Given the description of an element on the screen output the (x, y) to click on. 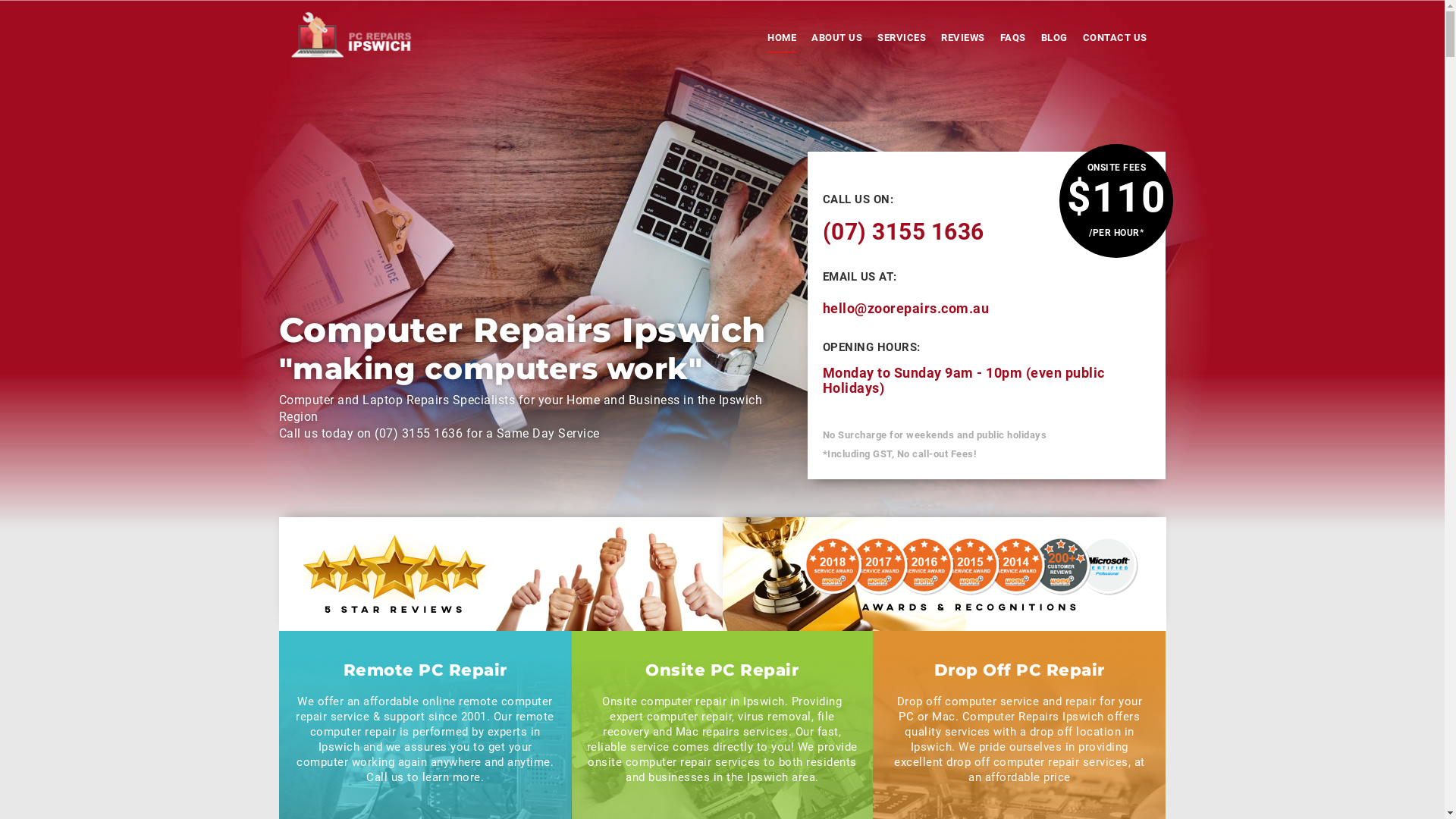
FAQS Element type: text (1012, 39)
SERVICES Element type: text (901, 39)
Computer Repairs Ipswich - QLD - 4305 Element type: hover (351, 35)
CONTACT US Element type: text (1114, 39)
BLOG Element type: text (1053, 39)
ABOUT US Element type: text (836, 39)
REVIEWS Element type: text (963, 39)
HOME Element type: text (781, 40)
